Given the description of an element on the screen output the (x, y) to click on. 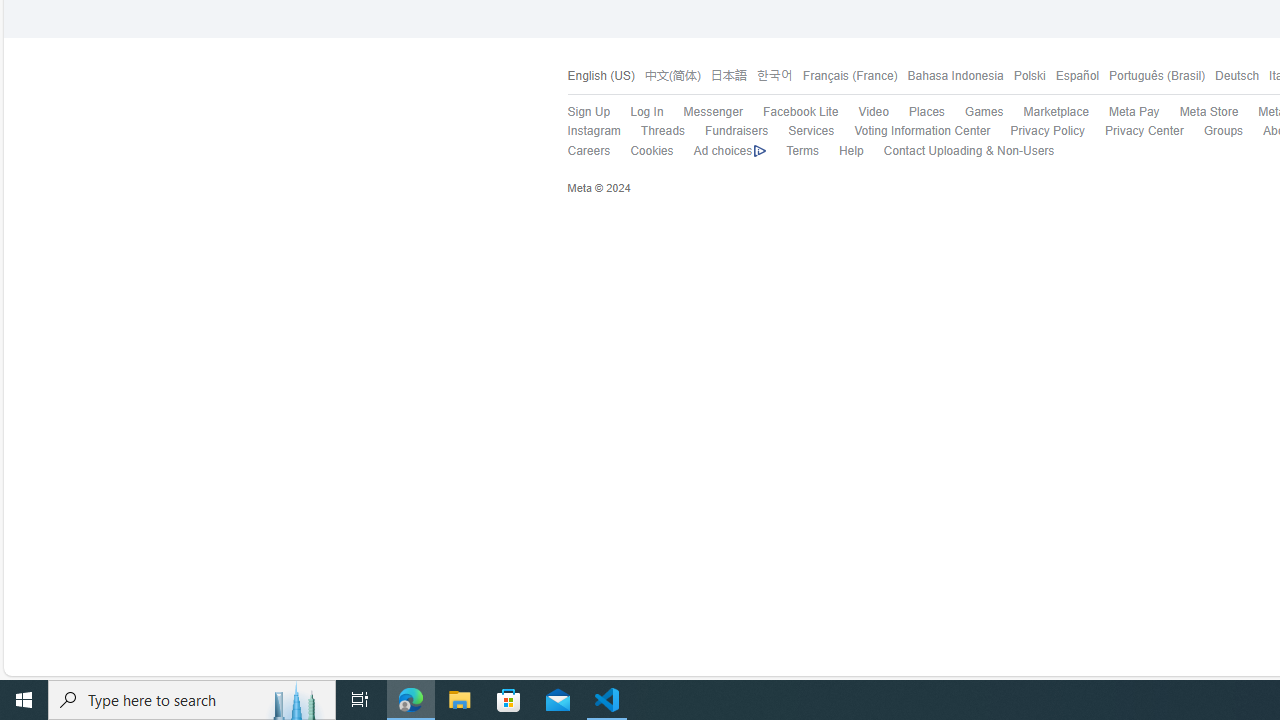
Fundraisers (726, 131)
Instagram (583, 131)
Video (863, 112)
Video (873, 112)
Deutsch (1231, 75)
Instagram (593, 130)
Voting Information Center (912, 131)
Groups (1213, 131)
Meta Store (1198, 112)
Meta Store (1208, 112)
